Given the description of an element on the screen output the (x, y) to click on. 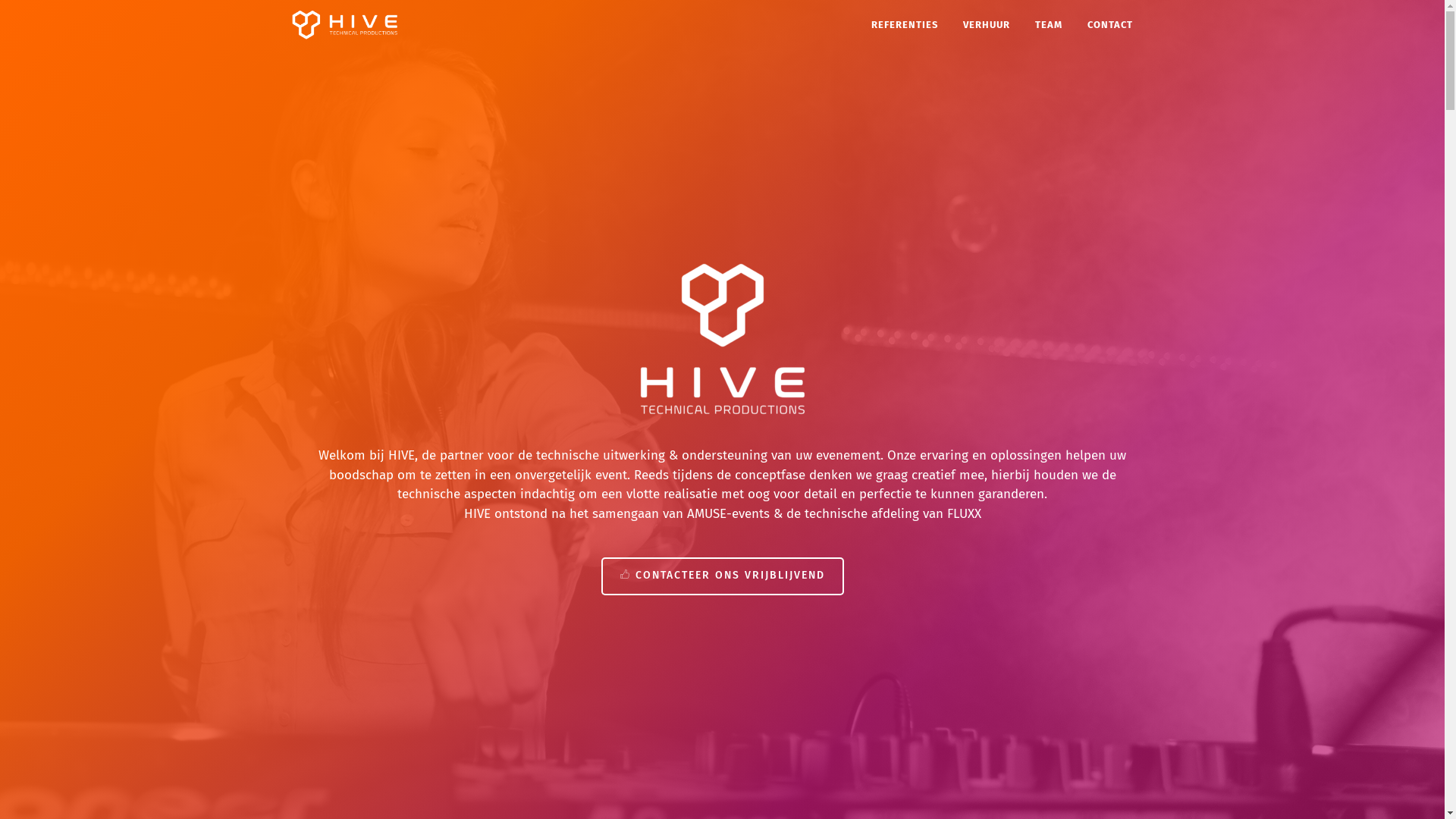
CONTACT Element type: text (1109, 24)
REFERENTIES Element type: text (903, 24)
CONTACTEER ONS VRIJBLIJVEND Element type: text (721, 576)
Hive Element type: text (343, 24)
VERHUUR Element type: text (986, 24)
TEAM Element type: text (1047, 24)
